Given the description of an element on the screen output the (x, y) to click on. 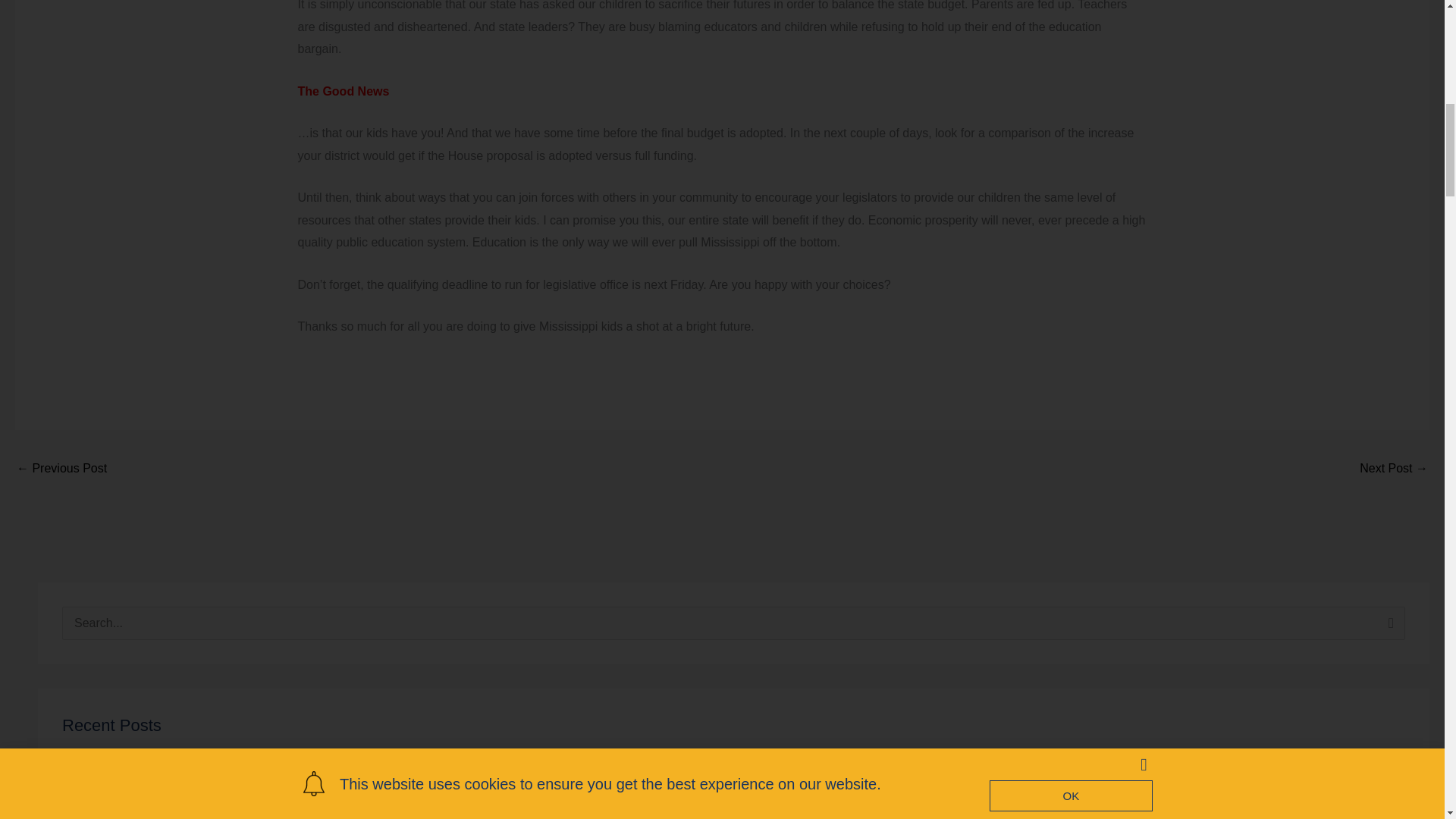
Facts on Florida's Reading Initiative (1393, 469)
